Given the description of an element on the screen output the (x, y) to click on. 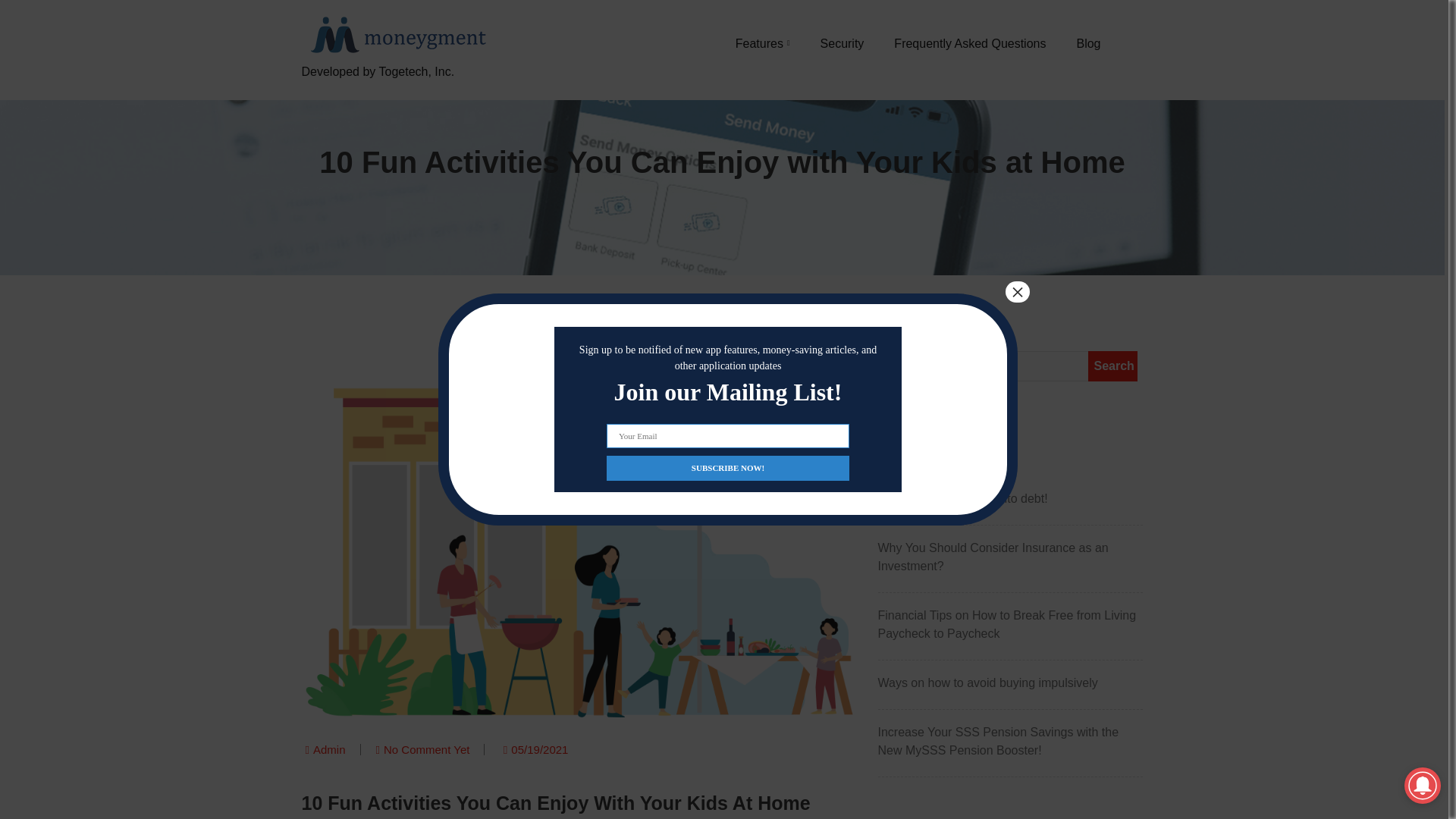
Security (842, 43)
Developed by Togetech, Inc. (396, 89)
Search (1112, 366)
Search (1112, 366)
Admin (329, 748)
Features (762, 43)
Search (1112, 366)
Ways on how to avoid buying impulsively (1009, 683)
Why You Should Consider Insurance as an Investment? (1009, 556)
No Comment Yet (426, 748)
Mistakes that pull you into debt! (1009, 498)
SUBSCRIBE NOW! (727, 467)
Frequently Asked Questions (969, 43)
